Given the description of an element on the screen output the (x, y) to click on. 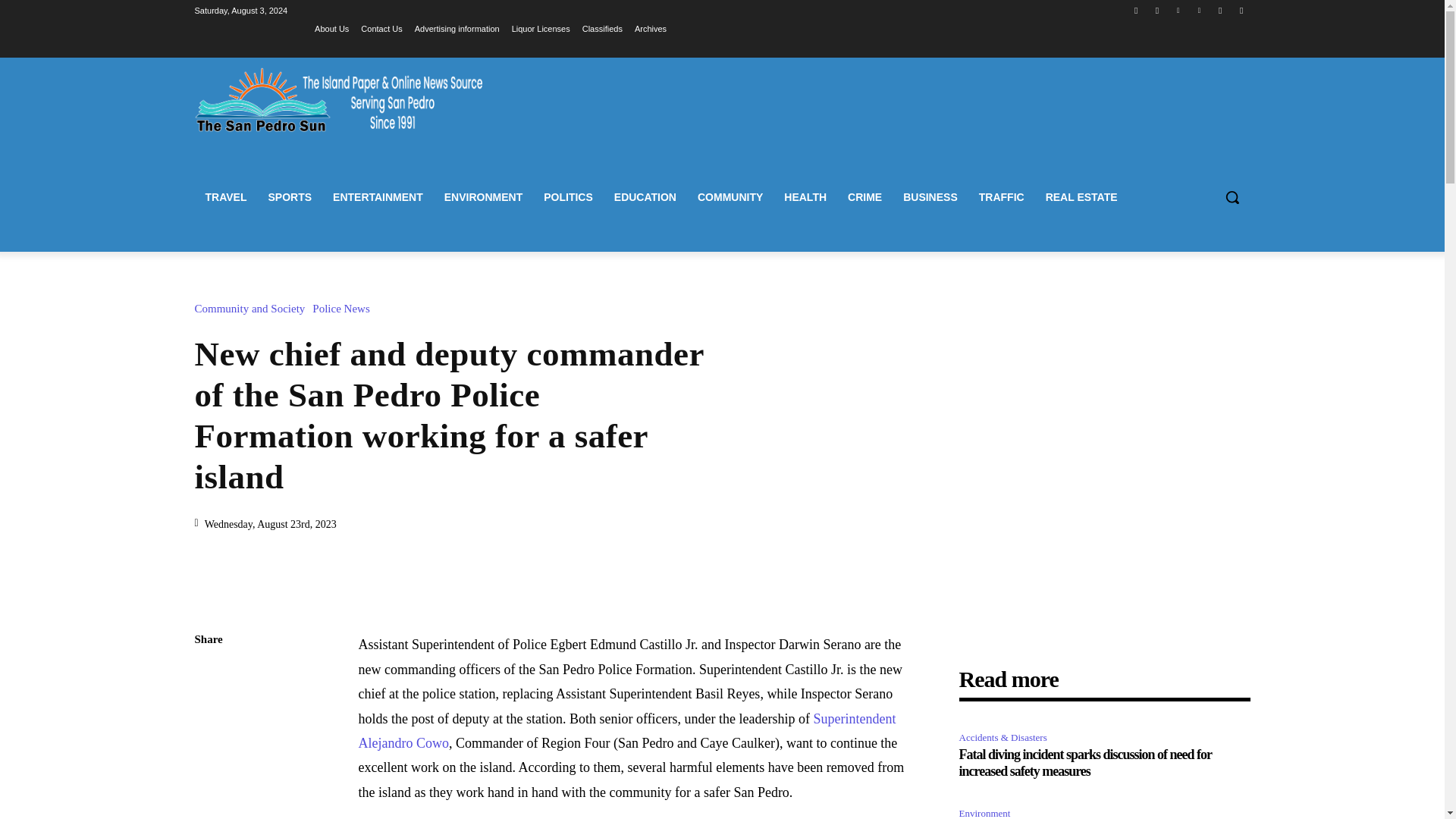
Linkedin (1177, 9)
POLITICS (568, 197)
Archives (650, 28)
ENVIRONMENT (482, 197)
Classifieds (602, 28)
CRIME (864, 197)
Twitter (1219, 9)
About Us (331, 28)
Pinterest (1199, 9)
COMMUNITY (730, 197)
EDUCATION (645, 197)
Youtube (1241, 9)
BUSINESS (930, 197)
REAL ESTATE (1081, 197)
TRAVEL (225, 197)
